Given the description of an element on the screen output the (x, y) to click on. 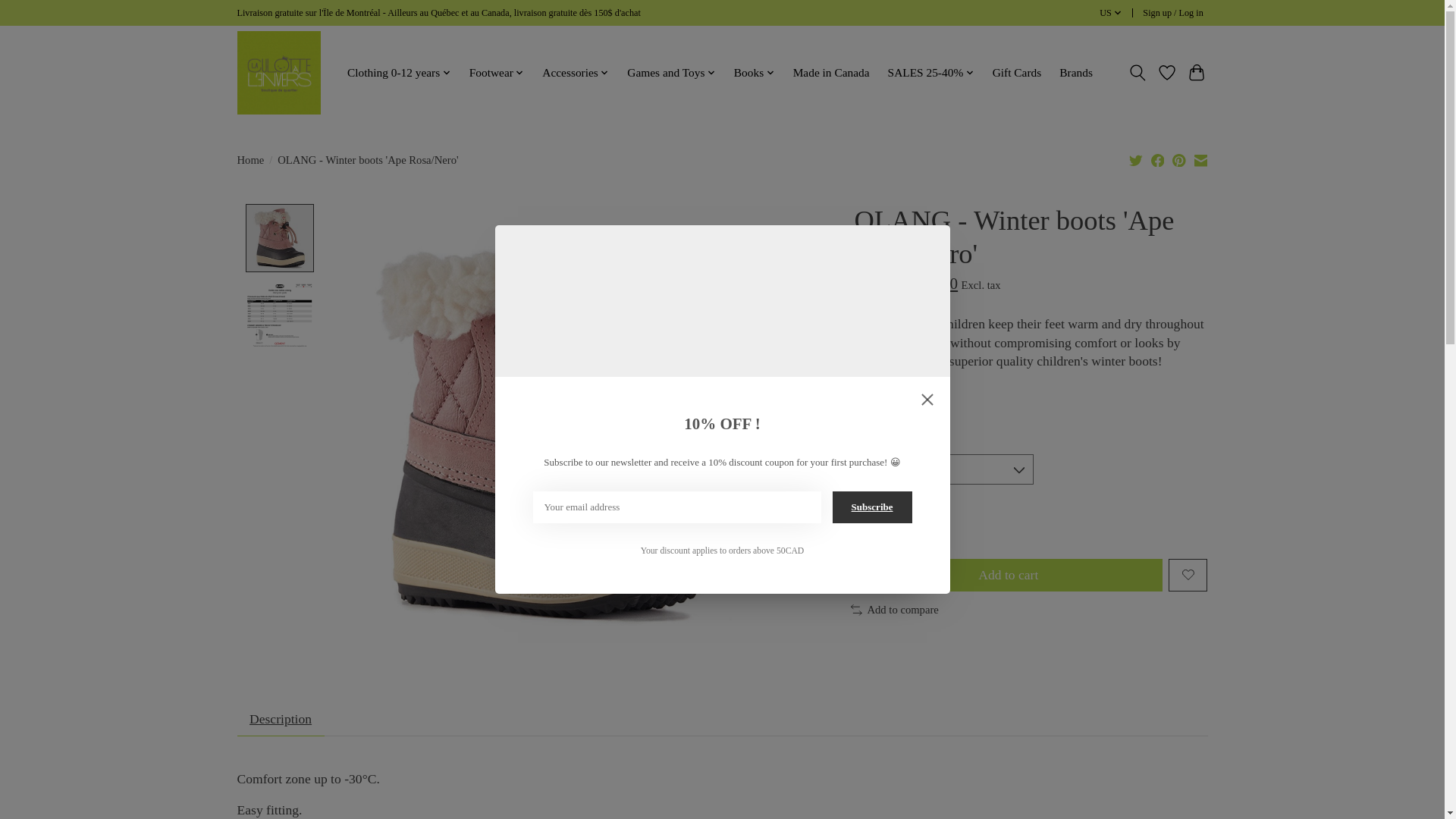
Share on Pinterest (1178, 159)
1 (886, 522)
Share on Twitter (1135, 159)
Share on Facebook (1157, 159)
Share by Email (1200, 159)
Clothing 0-12 years (399, 72)
US (1109, 13)
My account (1173, 13)
